Given the description of an element on the screen output the (x, y) to click on. 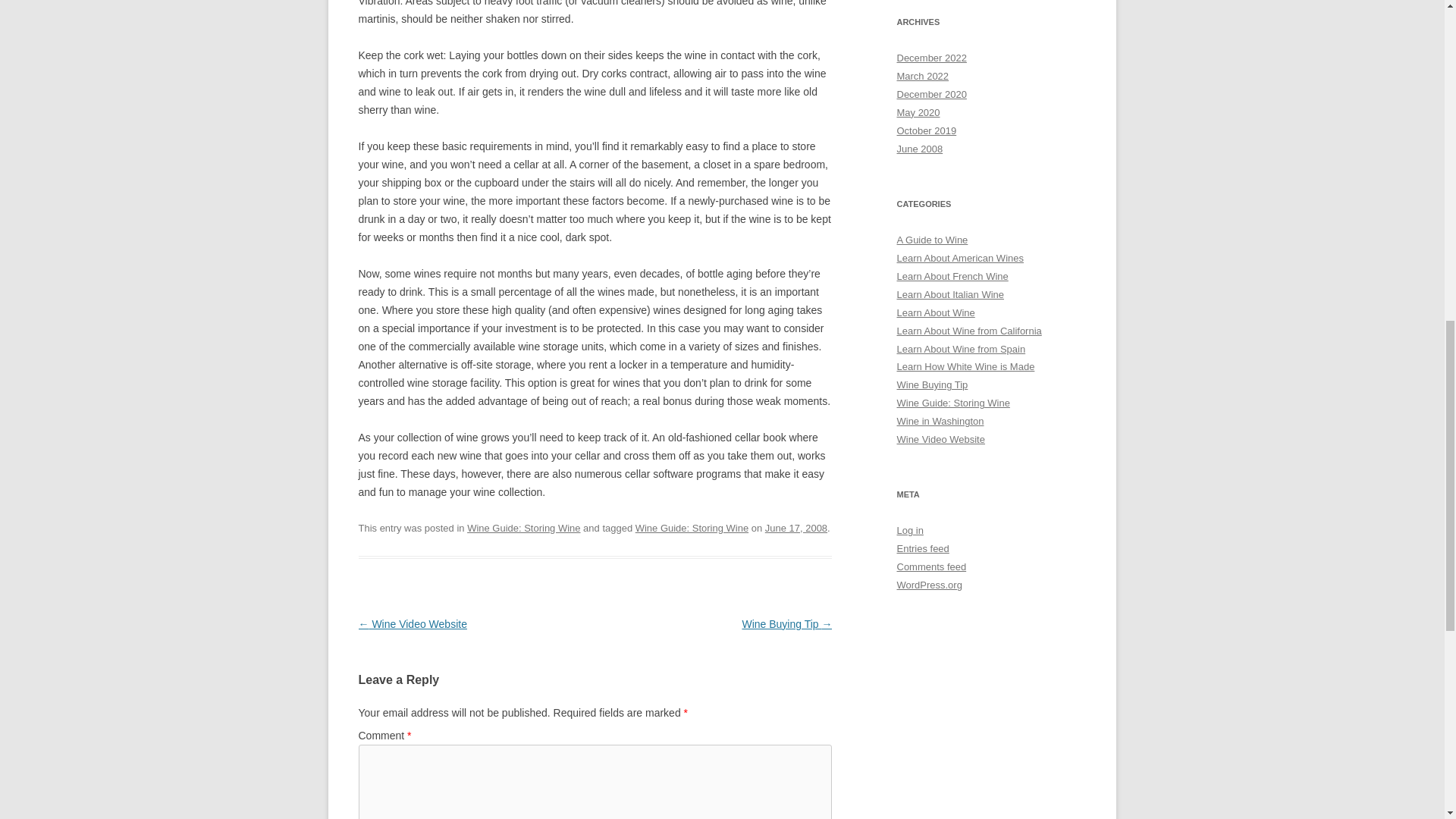
Wine Guide: Storing Wine (523, 527)
December 2020 (931, 93)
May 2020 (917, 112)
December 2022 (931, 57)
11:15 pm (796, 527)
Wine Guide: Storing Wine (691, 527)
June 17, 2008 (796, 527)
March 2022 (922, 75)
